Given the description of an element on the screen output the (x, y) to click on. 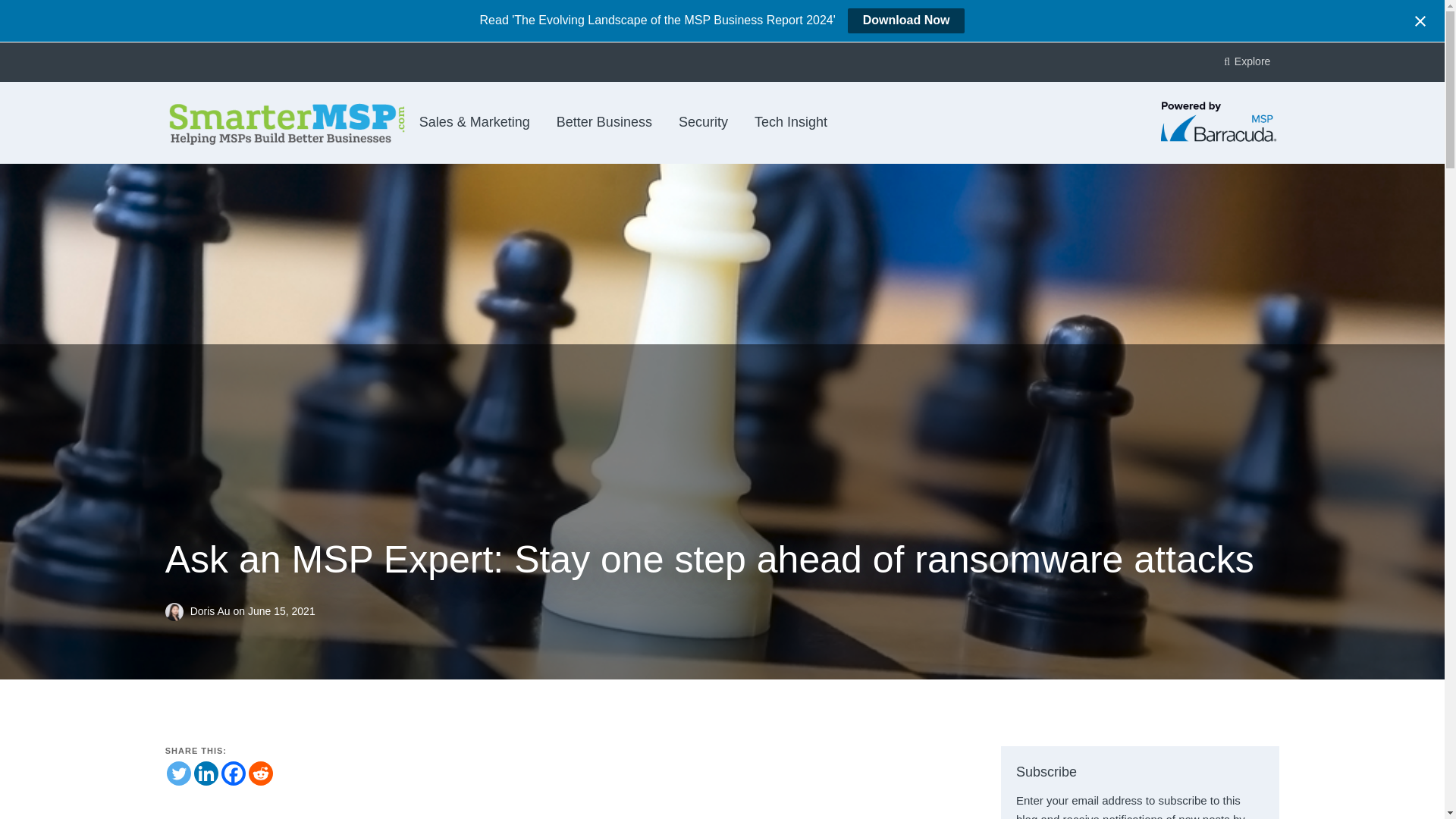
Download Now (906, 20)
